Given the description of an element on the screen output the (x, y) to click on. 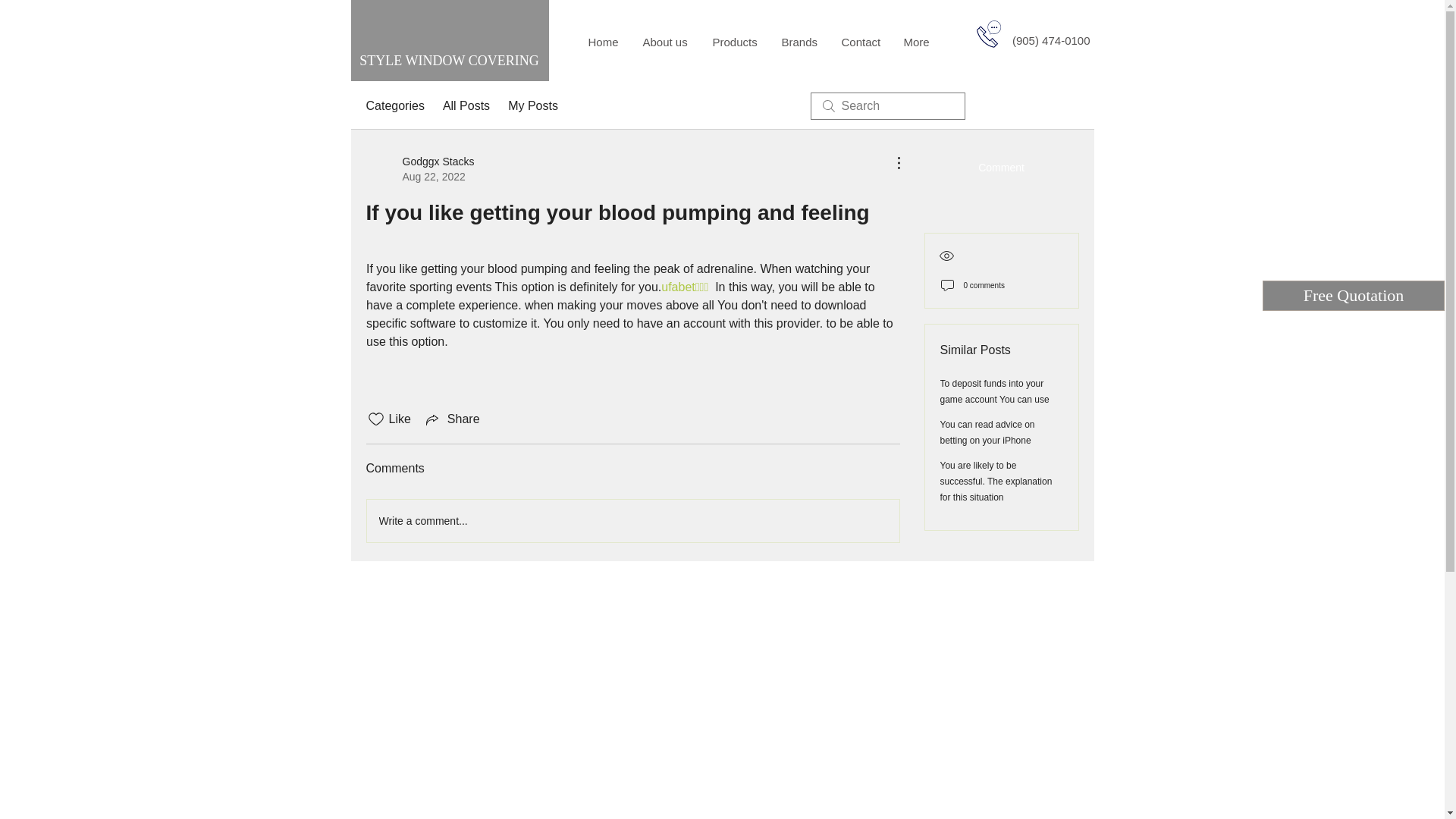
STYLE WINDOW COVERING (448, 60)
in Discover Awesome Features (448, 239)
Home (603, 42)
Comment (1000, 166)
My Posts (532, 106)
Products (735, 42)
About us (665, 42)
All Posts (465, 106)
Categories (394, 106)
Write a comment... (632, 520)
